Given the description of an element on the screen output the (x, y) to click on. 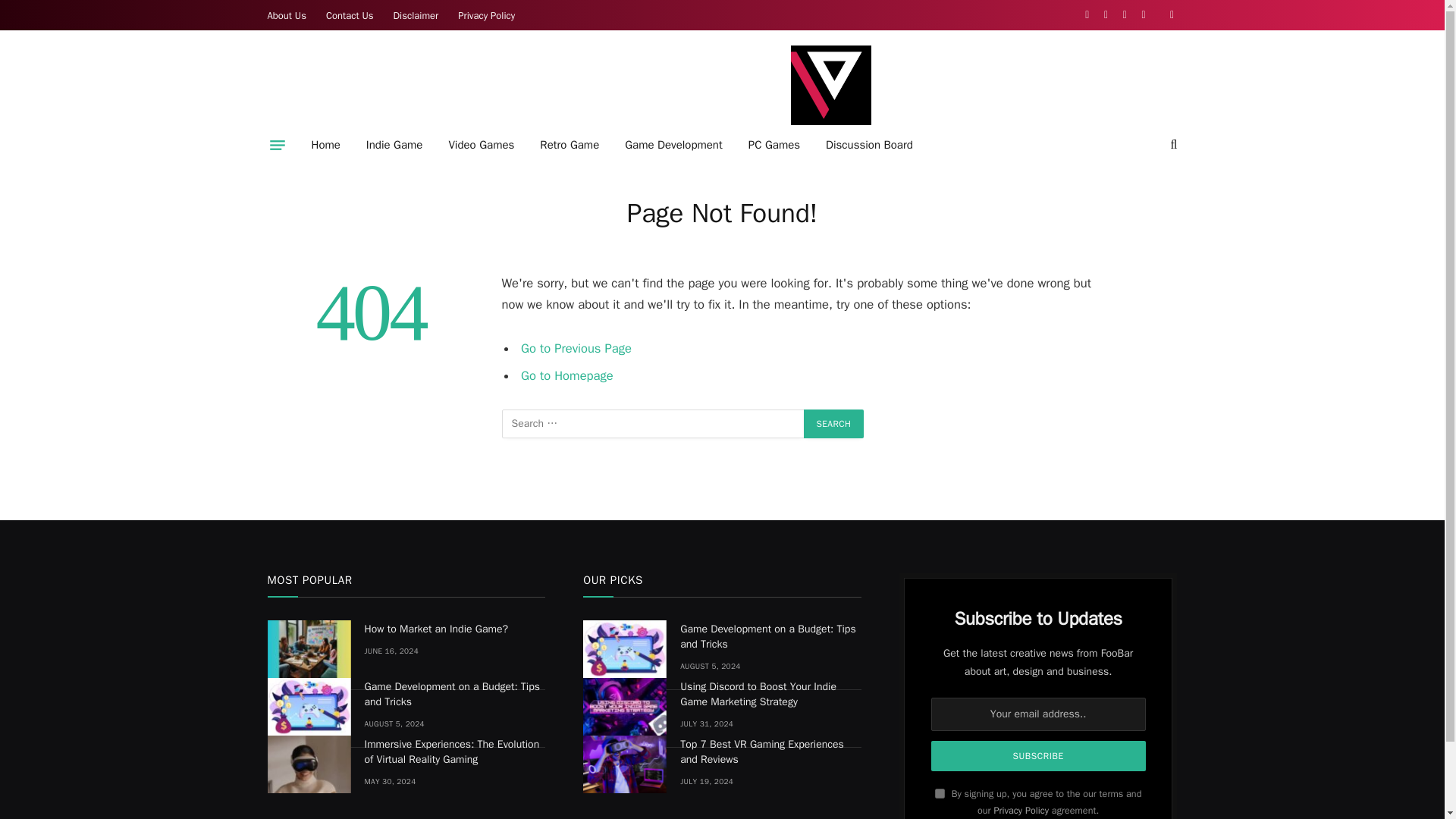
Contact Us (349, 15)
Disclaimer (416, 15)
Home (325, 144)
Privacy Policy (486, 15)
Go to Homepage (566, 374)
Using Discord to Boost Your Indie Game Marketing Strategy (624, 706)
Game Development on a Budget: Tips and Tricks (624, 648)
on (939, 793)
Indie Game (394, 144)
Search (833, 423)
Subscribe (1038, 756)
PC Games (773, 144)
Search (833, 423)
Game Development on a Budget: Tips and Tricks (308, 706)
Retro Game (569, 144)
